Given the description of an element on the screen output the (x, y) to click on. 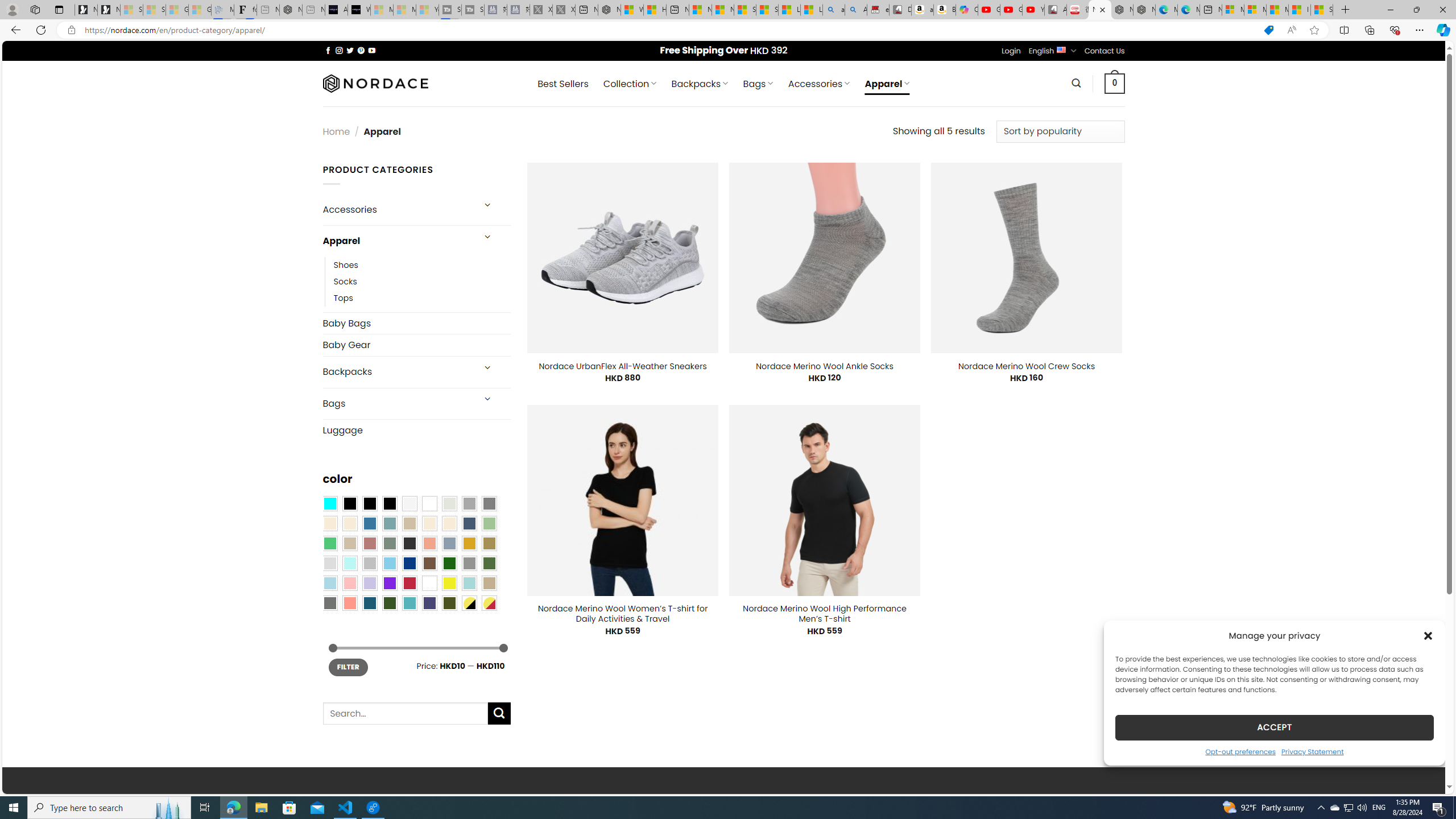
Light Taupe (349, 542)
Rose (369, 542)
Pink (349, 582)
Green (488, 562)
Yellow-Black (468, 602)
Nordace - My Account (609, 9)
Baby Bags (416, 323)
Army Green (449, 602)
